Given the description of an element on the screen output the (x, y) to click on. 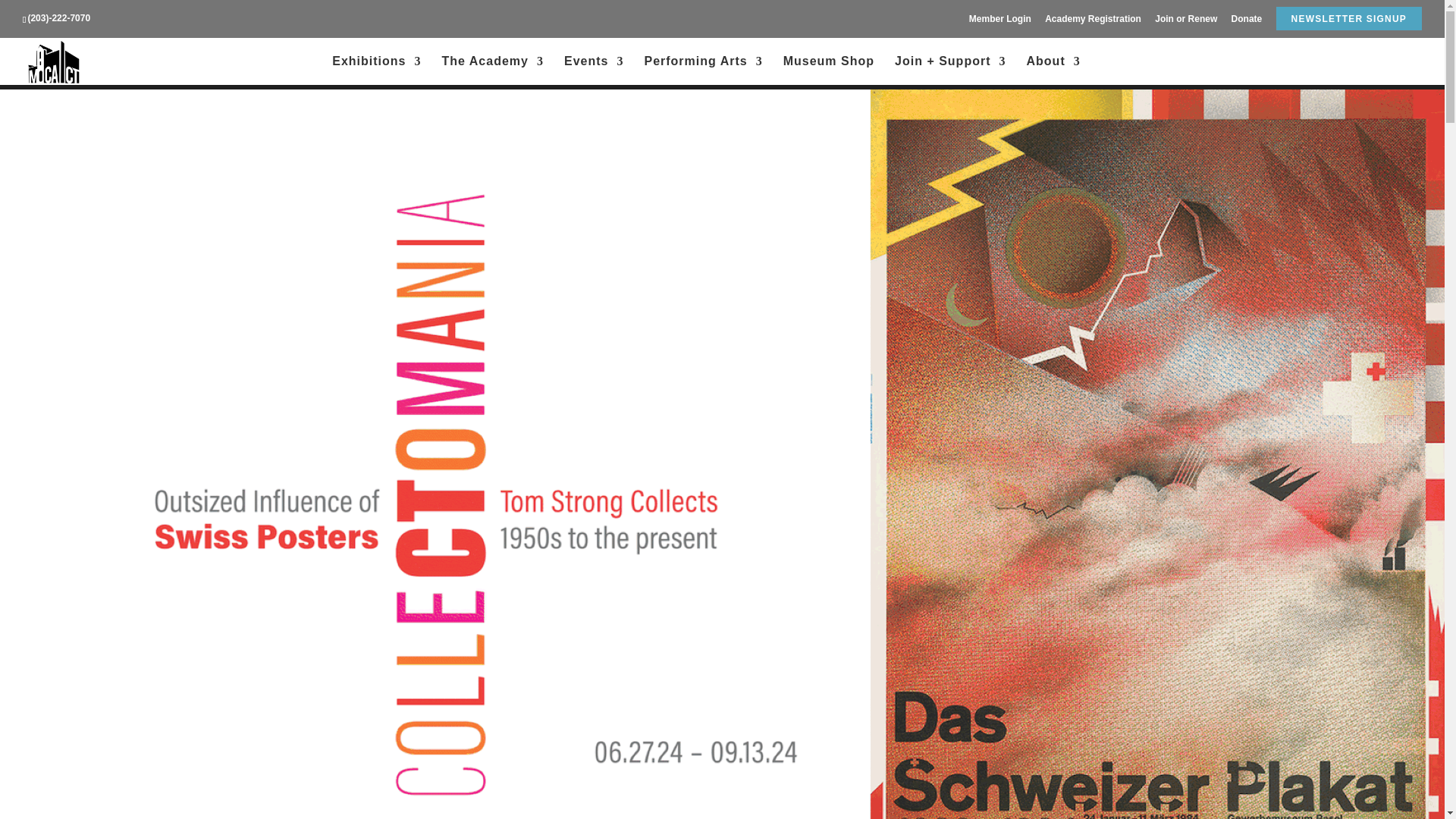
Events (593, 70)
Join or Renew (1185, 22)
Museum Shop (829, 70)
The Academy (492, 70)
Performing Arts (702, 70)
Academy Registration (1093, 22)
Member Login (999, 22)
Donate (1246, 22)
About (1053, 70)
Exhibitions (375, 70)
